Given the description of an element on the screen output the (x, y) to click on. 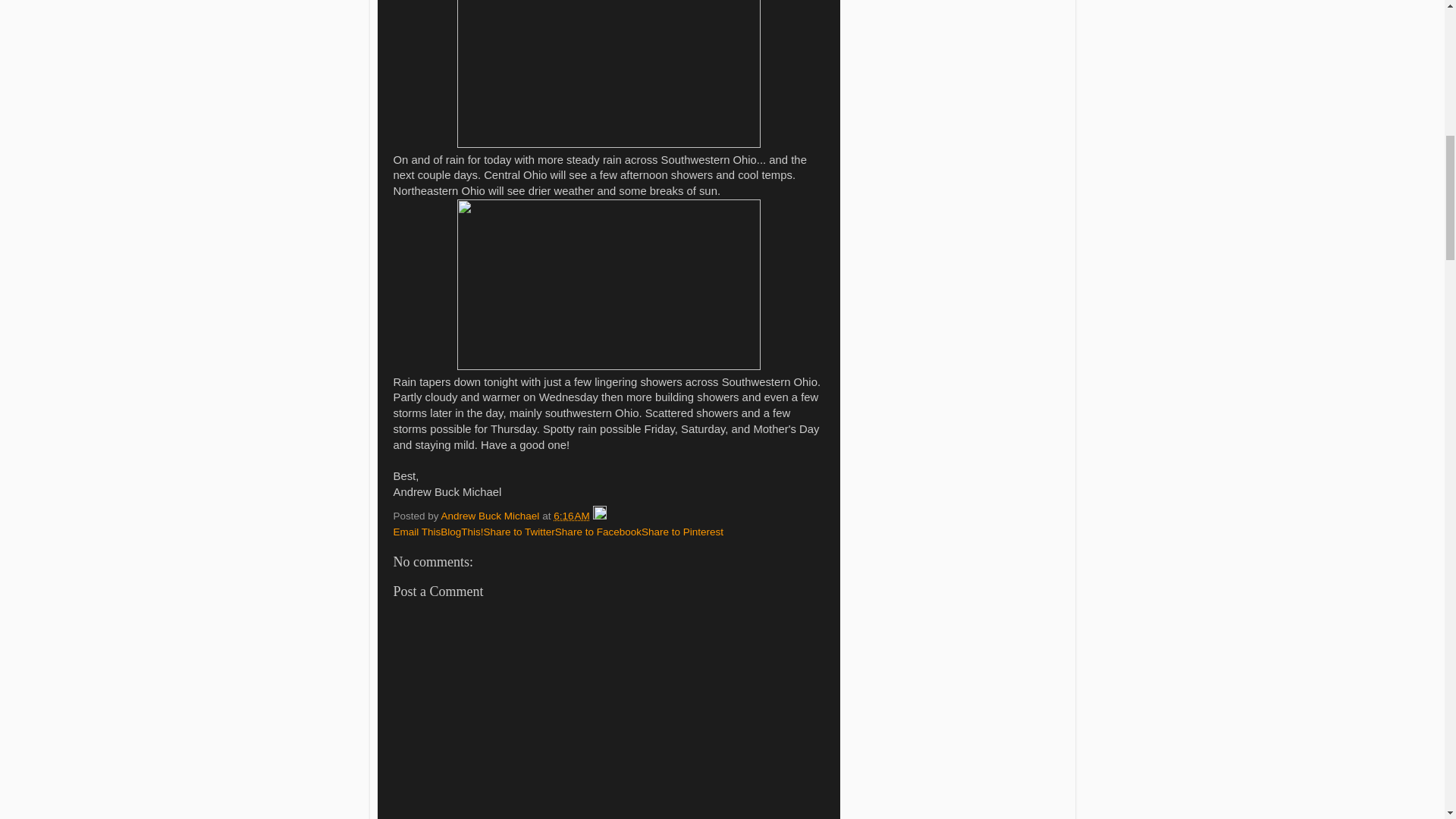
BlogThis! (462, 531)
author profile (492, 515)
Email This (417, 531)
Edit Post (599, 515)
Share to Pinterest (682, 531)
Andrew Buck Michael (492, 515)
Share to Facebook (598, 531)
Share to Pinterest (682, 531)
Share to Twitter (518, 531)
permanent link (571, 515)
Share to Facebook (598, 531)
Share to Twitter (518, 531)
Email This (417, 531)
BlogThis! (462, 531)
